Given the description of an element on the screen output the (x, y) to click on. 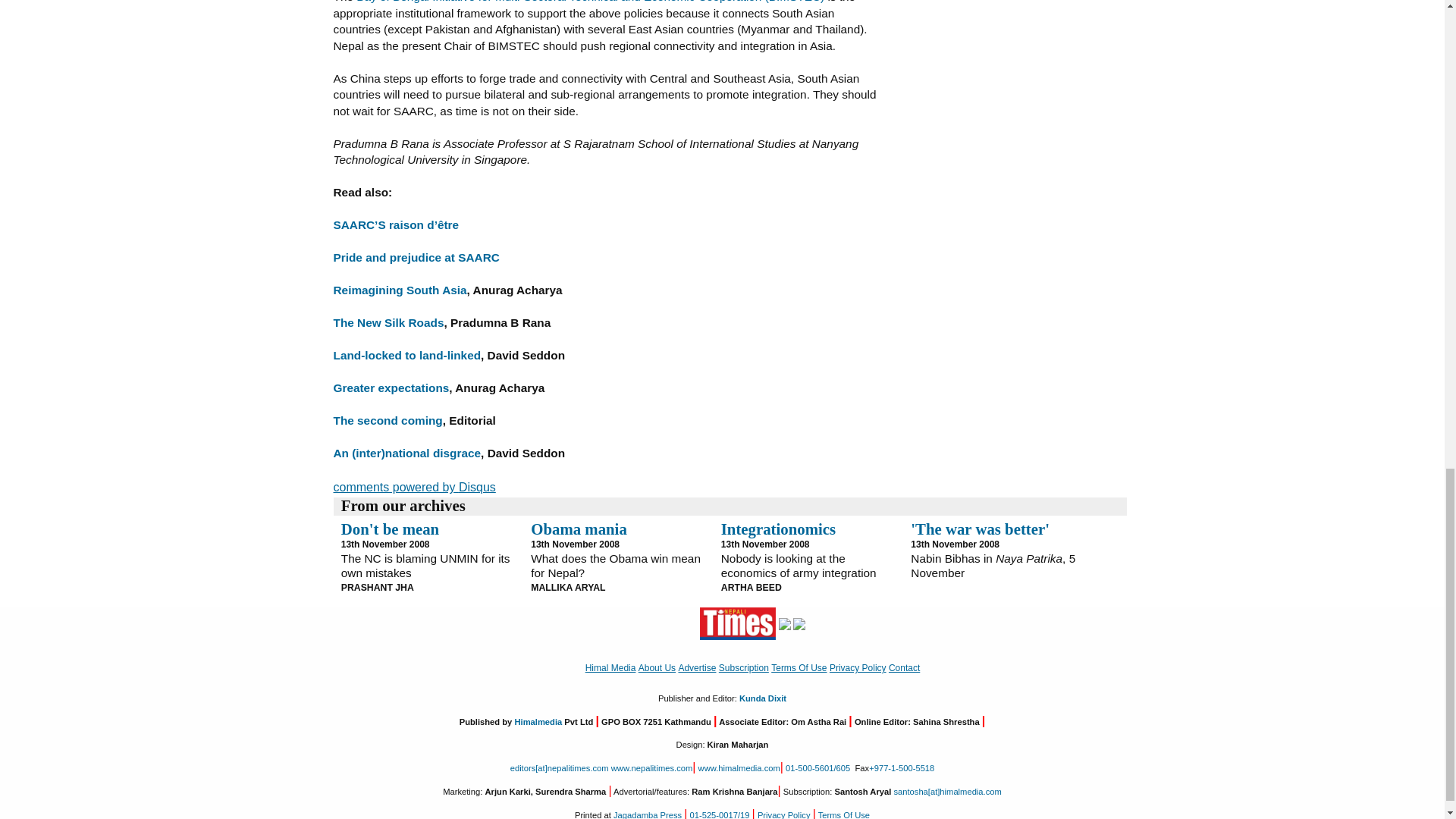
Himalkhabar (783, 623)
Himal Media (799, 623)
Nepali Times (738, 623)
